Given the description of an element on the screen output the (x, y) to click on. 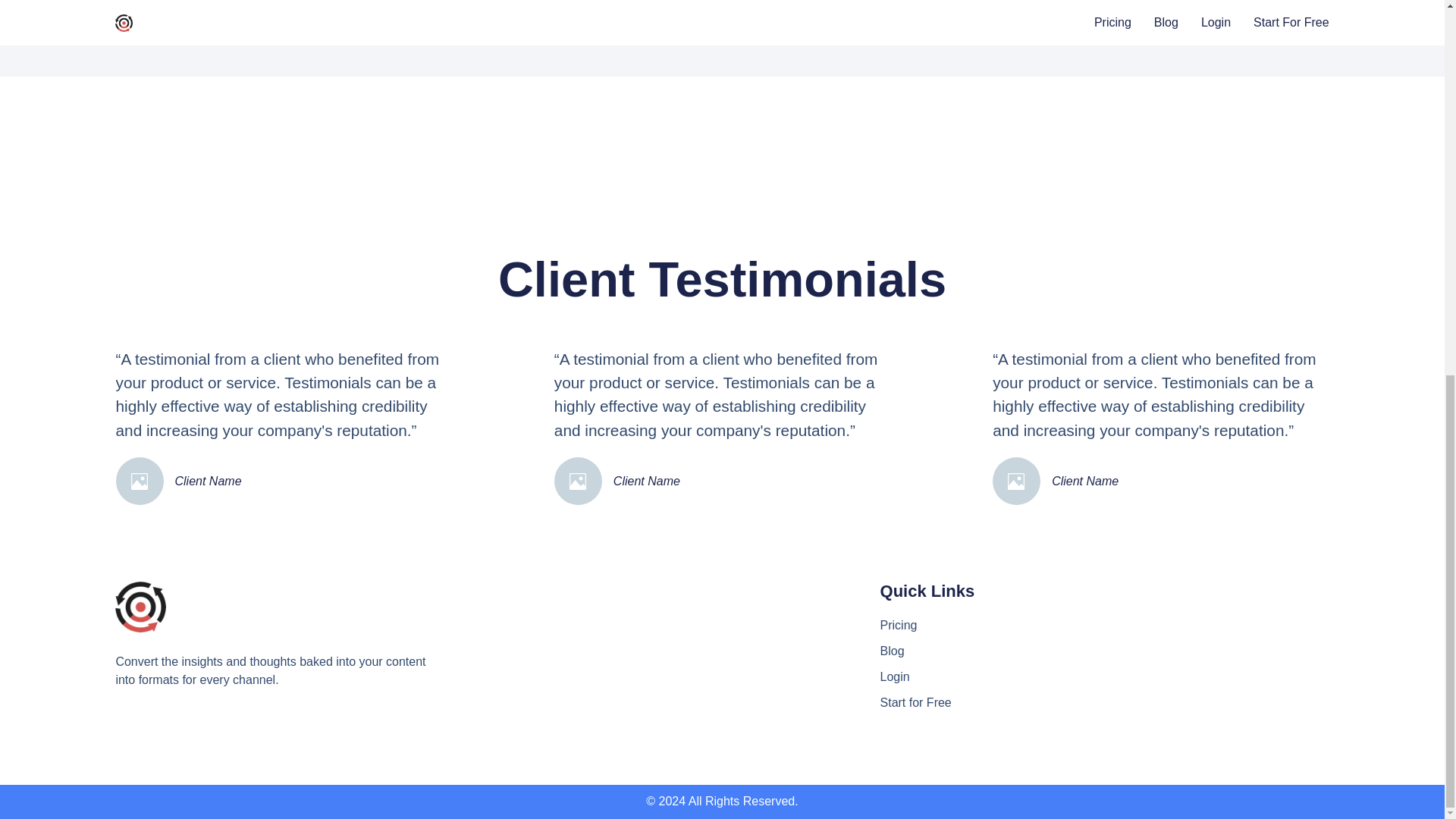
Pricing (983, 625)
Start for Free (983, 702)
Login (983, 677)
Blog (983, 651)
